Given the description of an element on the screen output the (x, y) to click on. 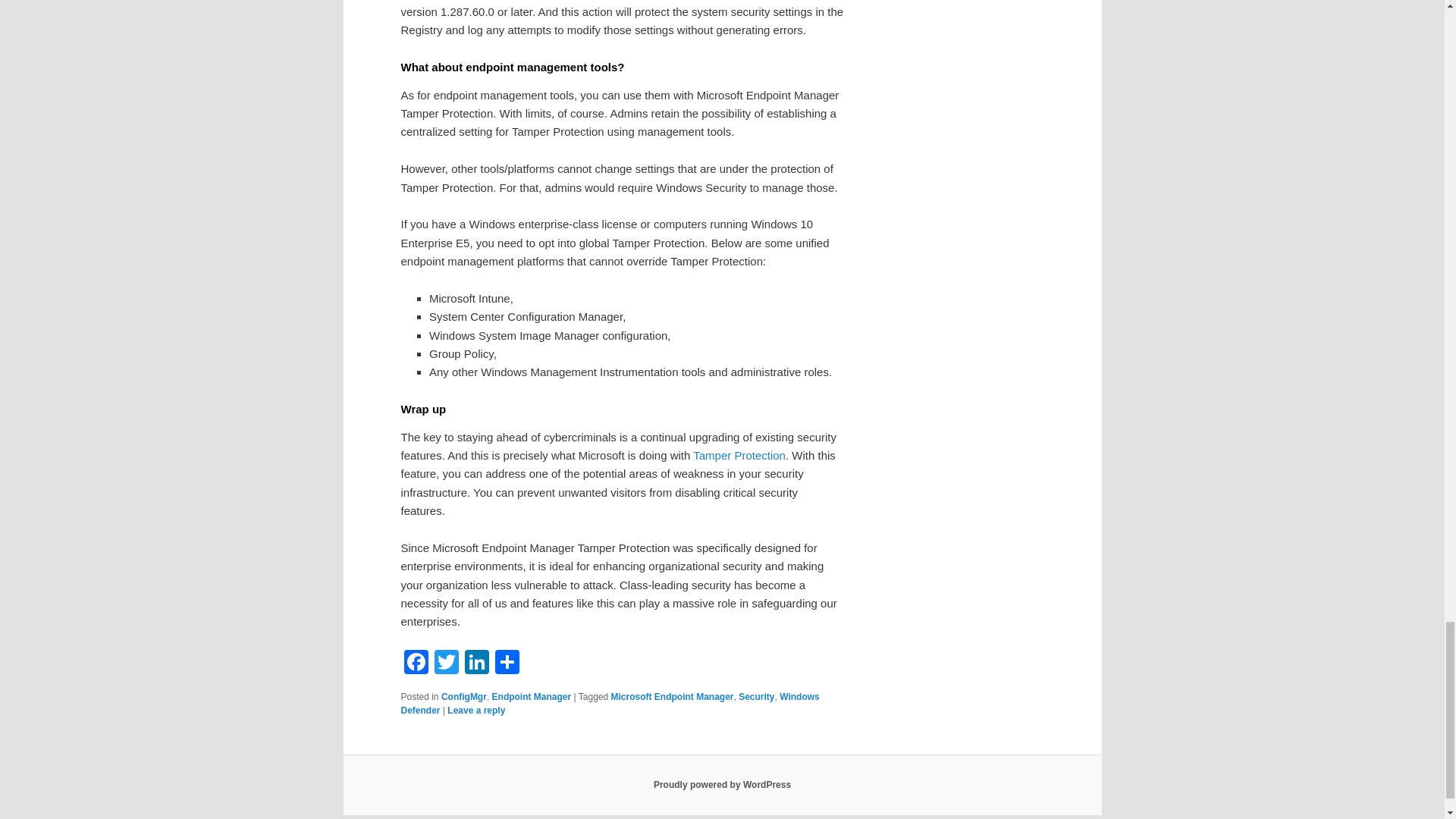
Twitter (445, 664)
Share (506, 664)
Facebook (415, 664)
LinkedIn (476, 664)
Microsoft Endpoint Manager (672, 696)
Windows Defender (609, 703)
Facebook (415, 664)
Tamper Protection (739, 454)
ConfigMgr (463, 696)
Twitter (445, 664)
LinkedIn (476, 664)
Endpoint Manager (532, 696)
Leave a reply (475, 710)
Security (756, 696)
Semantic Personal Publishing Platform (721, 784)
